Given the description of an element on the screen output the (x, y) to click on. 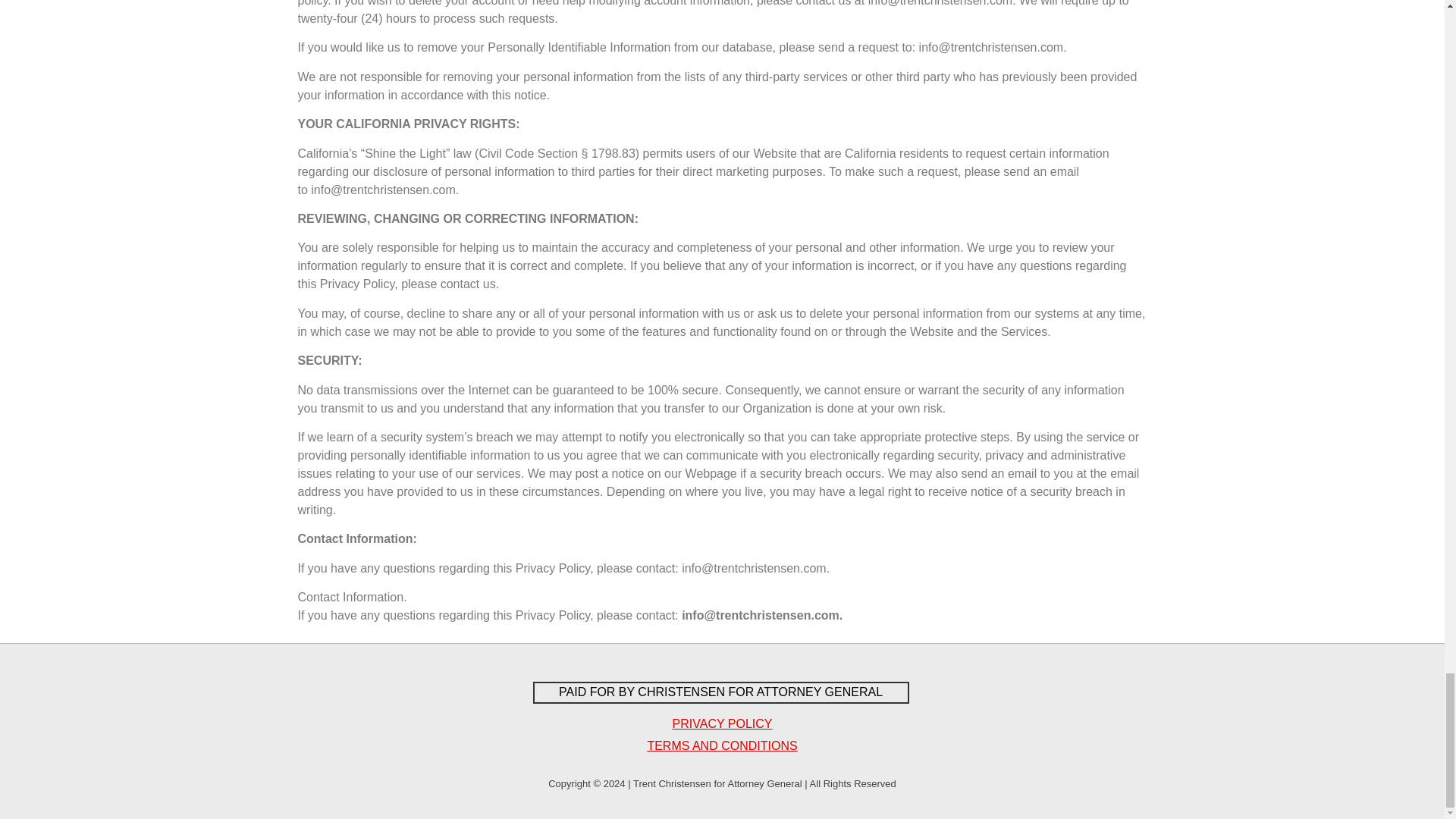
POLICY (747, 723)
PRIVACY (698, 723)
TERMS AND CONDITIONS (721, 745)
